Given the description of an element on the screen output the (x, y) to click on. 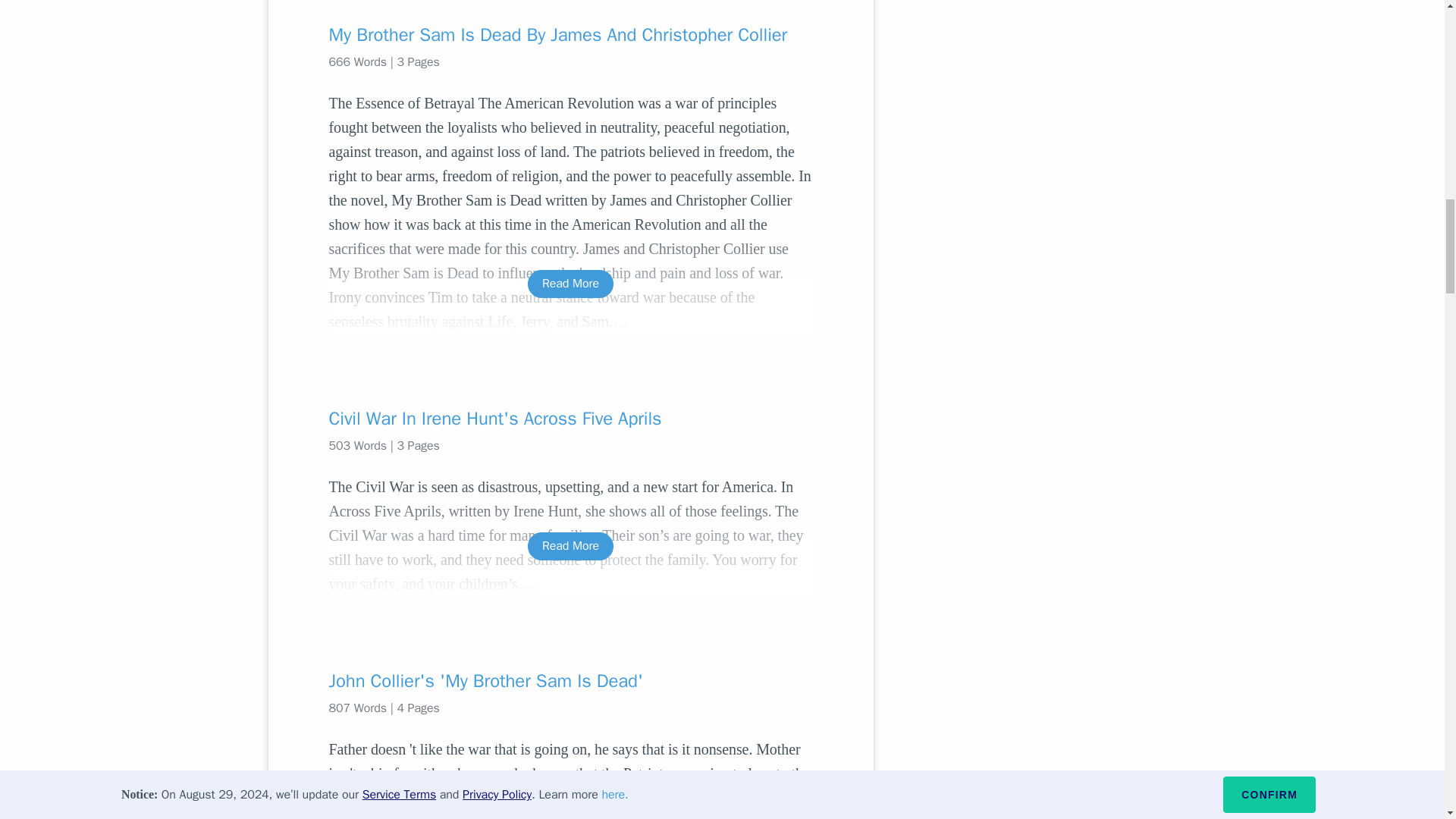
Civil War In Irene Hunt's Across Five Aprils (570, 418)
Read More (569, 546)
Read More (569, 284)
John Collier's 'My Brother Sam Is Dead' (570, 680)
My Brother Sam Is Dead By James And Christopher Collier (570, 34)
